Given the description of an element on the screen output the (x, y) to click on. 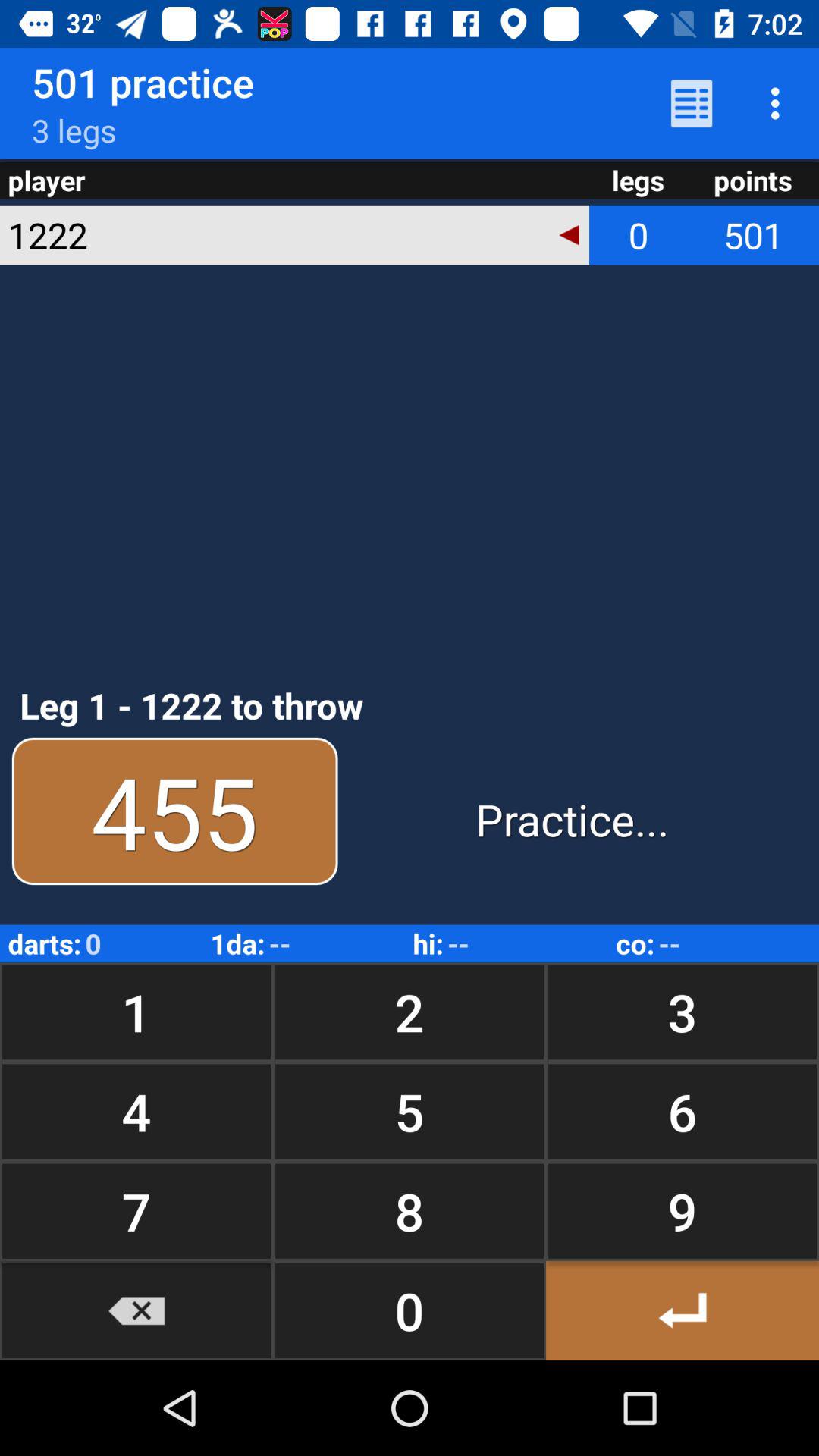
reduced (136, 1310)
